Given the description of an element on the screen output the (x, y) to click on. 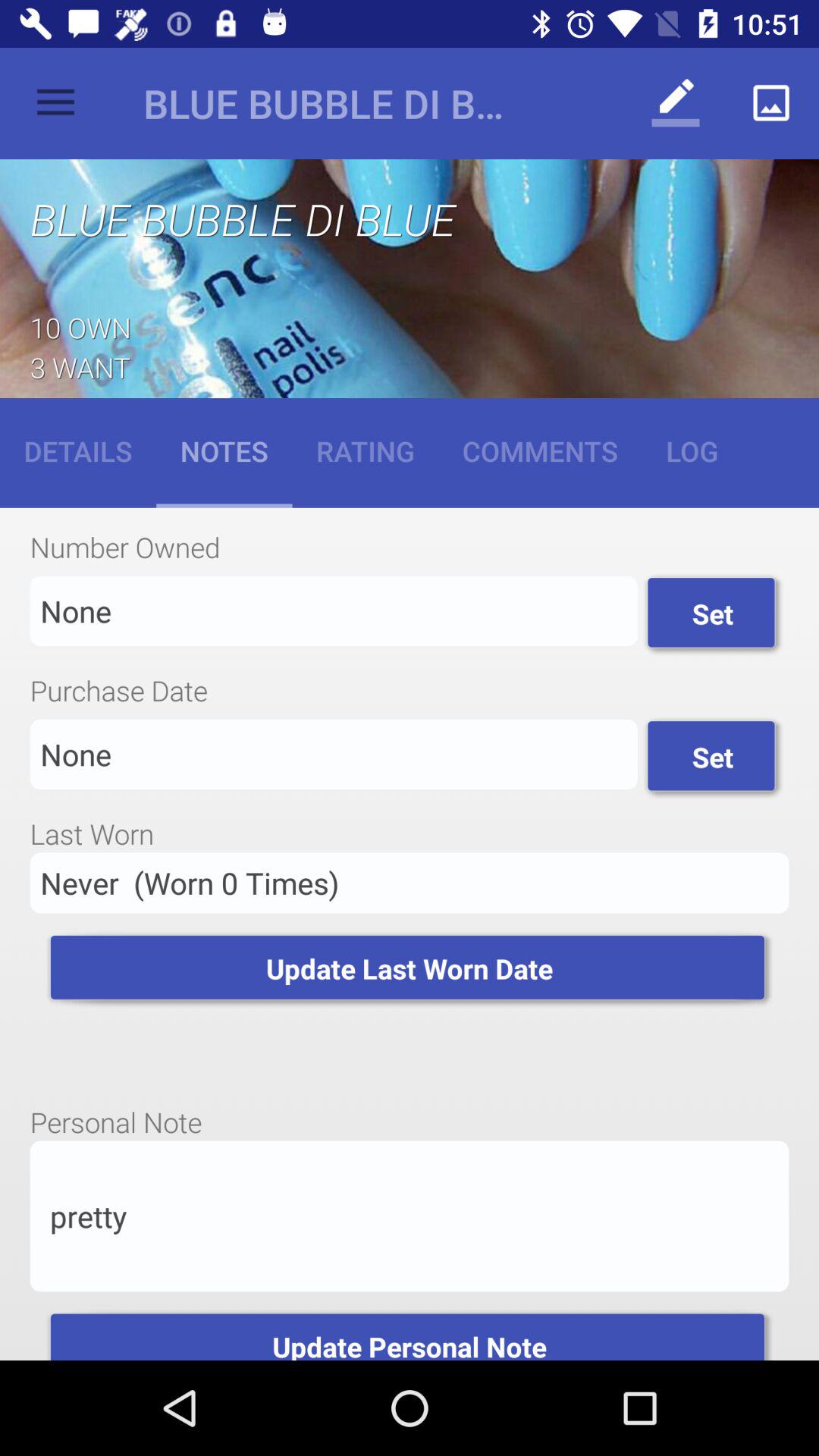
turn on the item next to rating icon (540, 450)
